Given the description of an element on the screen output the (x, y) to click on. 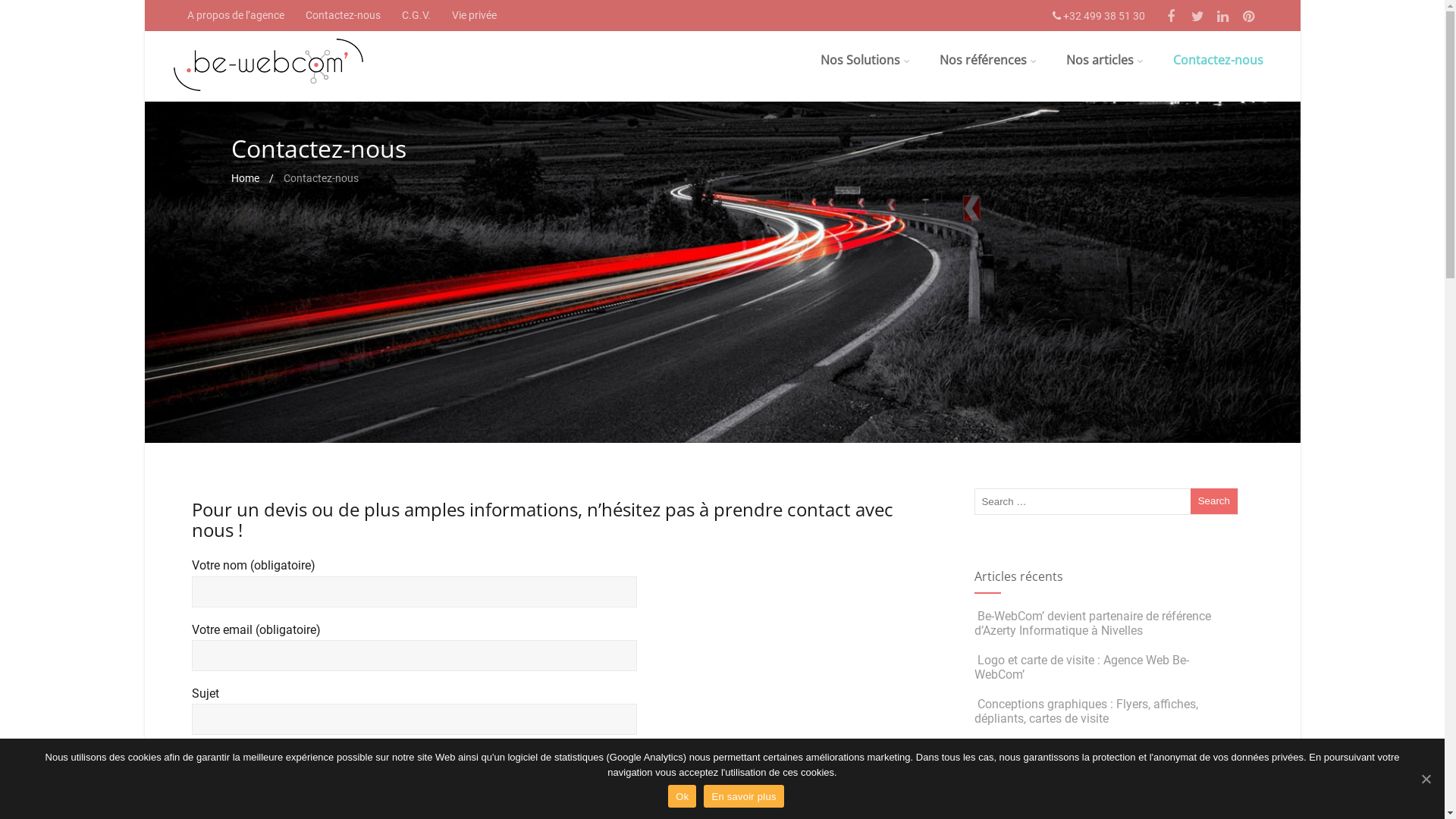
Contactez-nous Element type: text (342, 15)
Be-WebCom' Element type: hover (268, 94)
Home Element type: text (245, 178)
Ok Element type: text (682, 795)
Contactez-nous Element type: text (1218, 59)
Nos articles Element type: text (1104, 59)
Search Element type: text (1213, 501)
En savoir plus Element type: text (743, 795)
C.G.V. Element type: text (415, 15)
Nos Solutions Element type: text (865, 59)
